Given the description of an element on the screen output the (x, y) to click on. 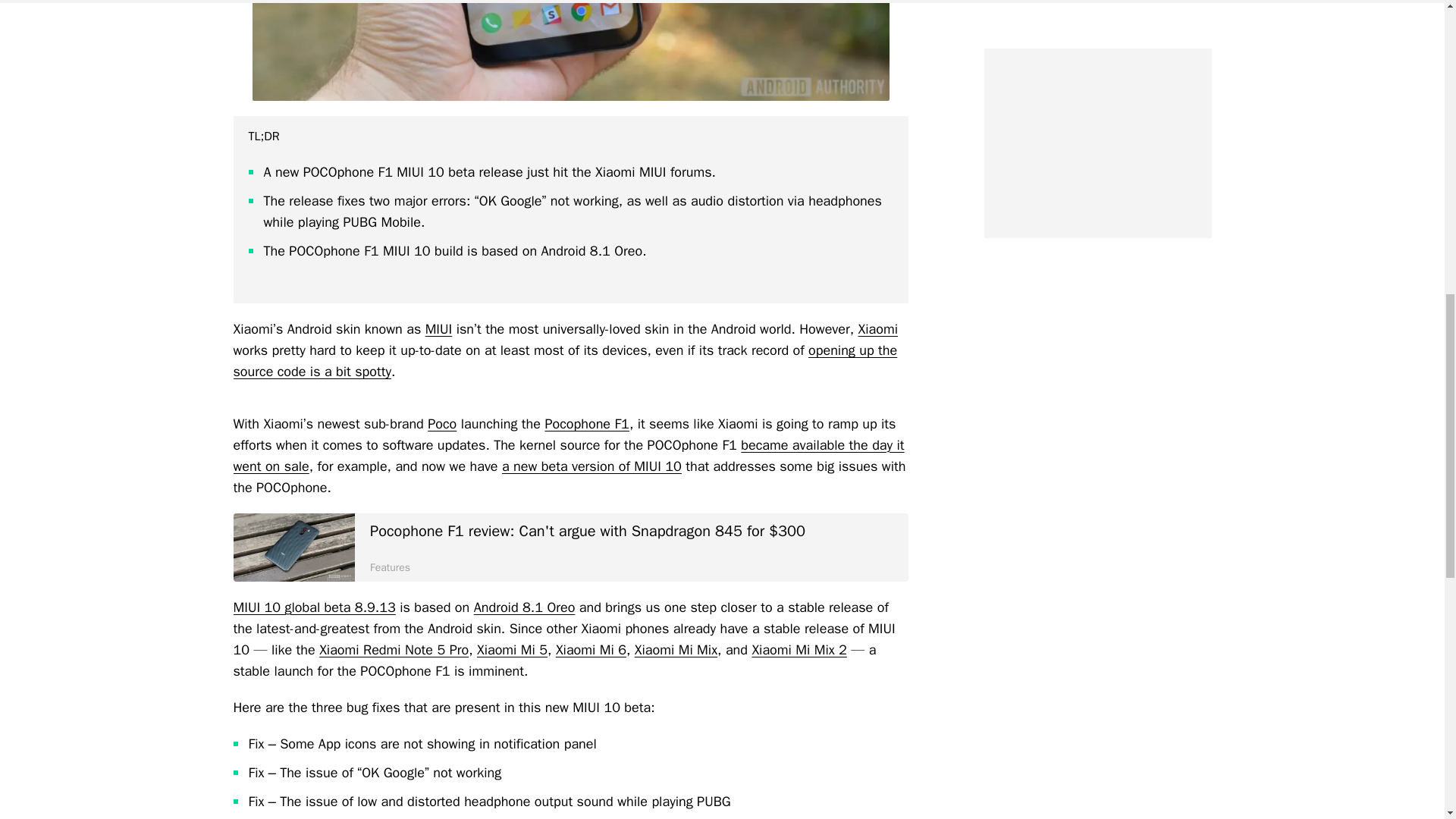
Xiaomi Mi 5 (512, 649)
opening up the source code is a bit spotty (565, 361)
Xiaomi Mi Mix (675, 649)
MIUI 10 global beta 8.9.13 (314, 606)
Pocophone F1 (586, 423)
Poco (442, 423)
a new beta version of MIUI 10 (591, 466)
pocophone f1 review xiaomi aa 17 (569, 50)
MIUI (438, 329)
pocophone f1 armoured edition kevlar xiaomi aa 3 (293, 547)
